Given the description of an element on the screen output the (x, y) to click on. 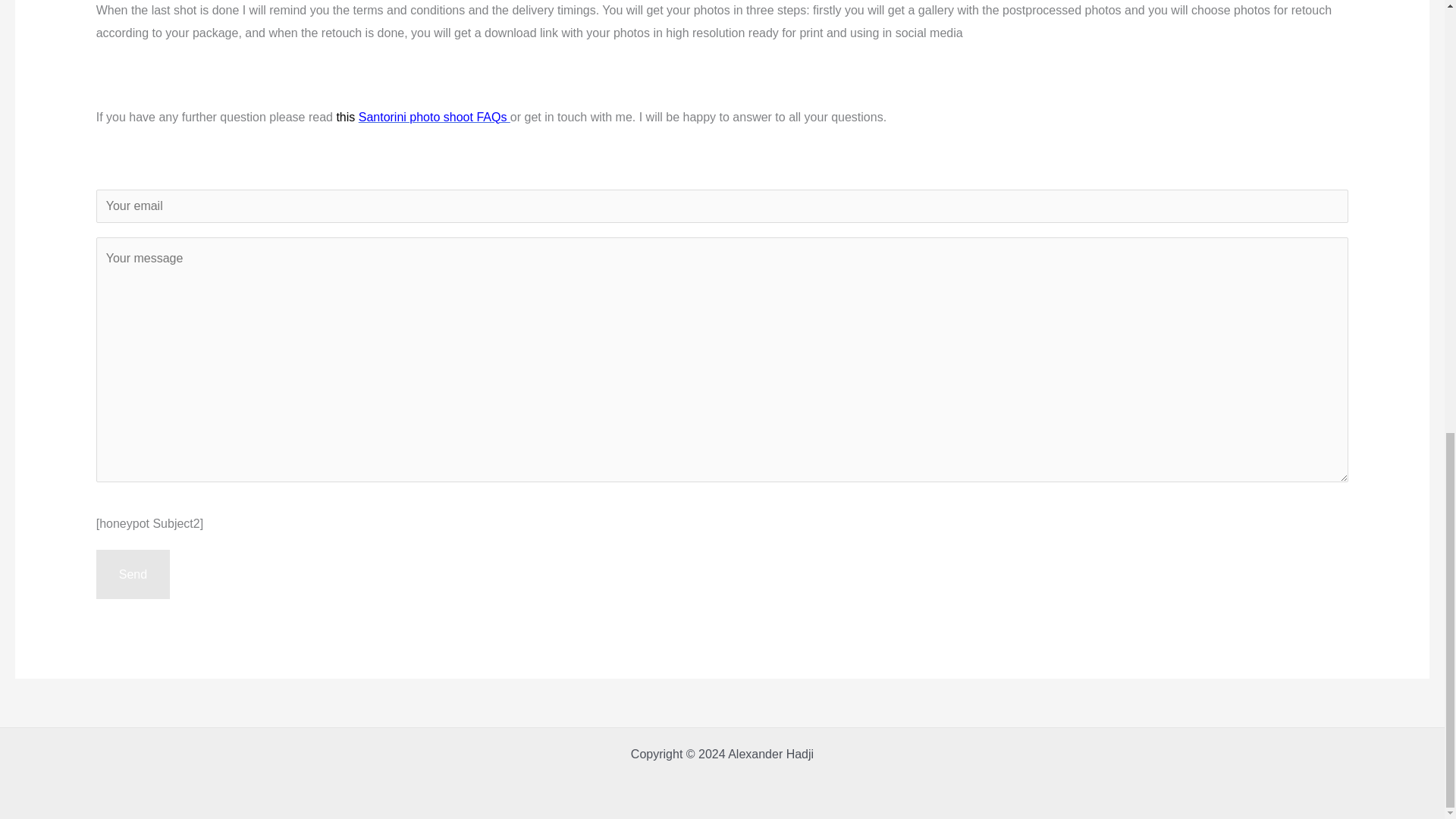
Send (133, 574)
Santorini photo shoot FAQs  (434, 116)
Send (133, 574)
